Given the description of an element on the screen output the (x, y) to click on. 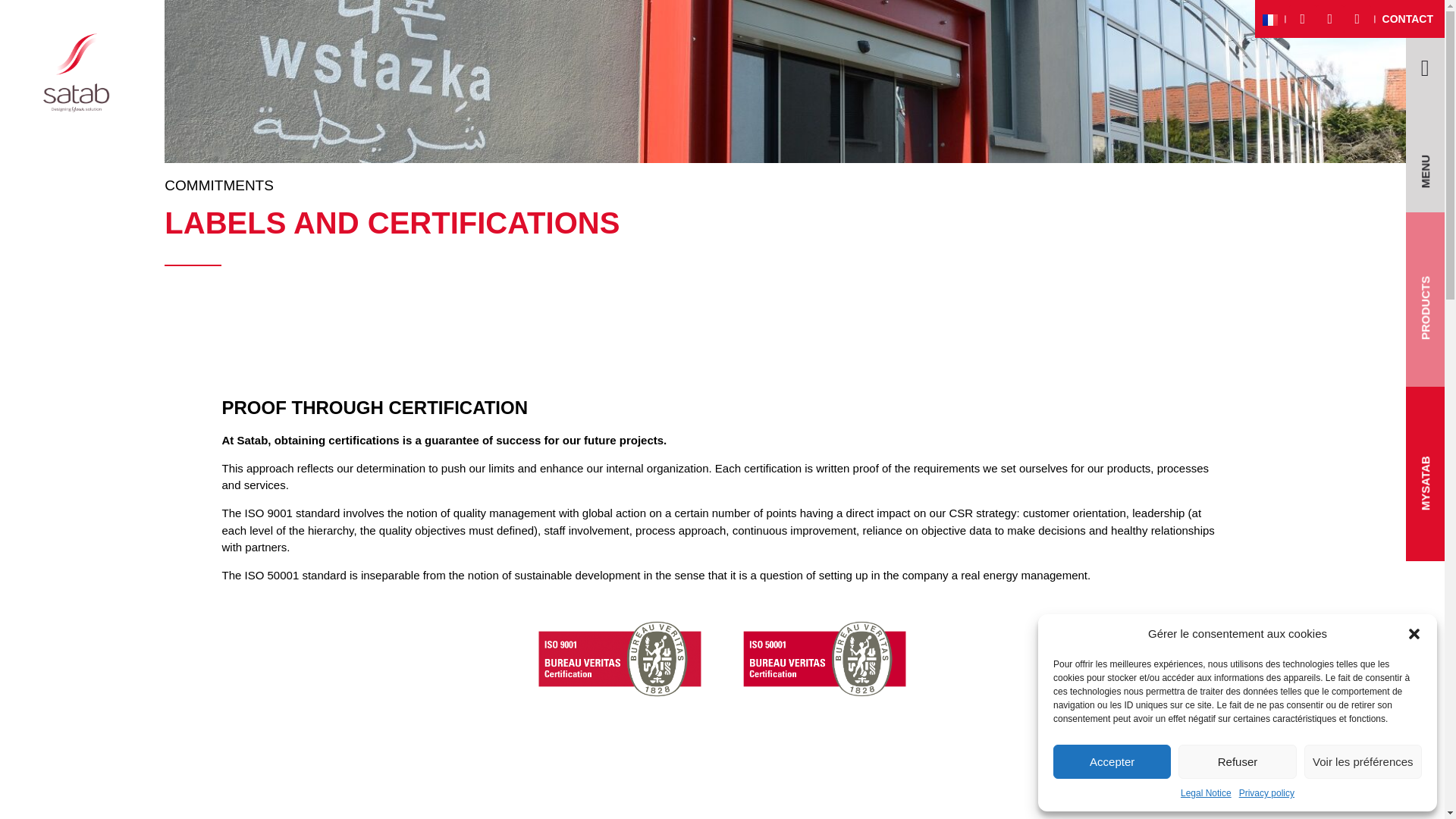
iso9001 (619, 659)
Refuser (1236, 761)
Legal Notice (1205, 793)
CONTACT (1406, 19)
iso50001 (823, 659)
Accepter (1111, 761)
Privacy policy (1266, 793)
